Given the description of an element on the screen output the (x, y) to click on. 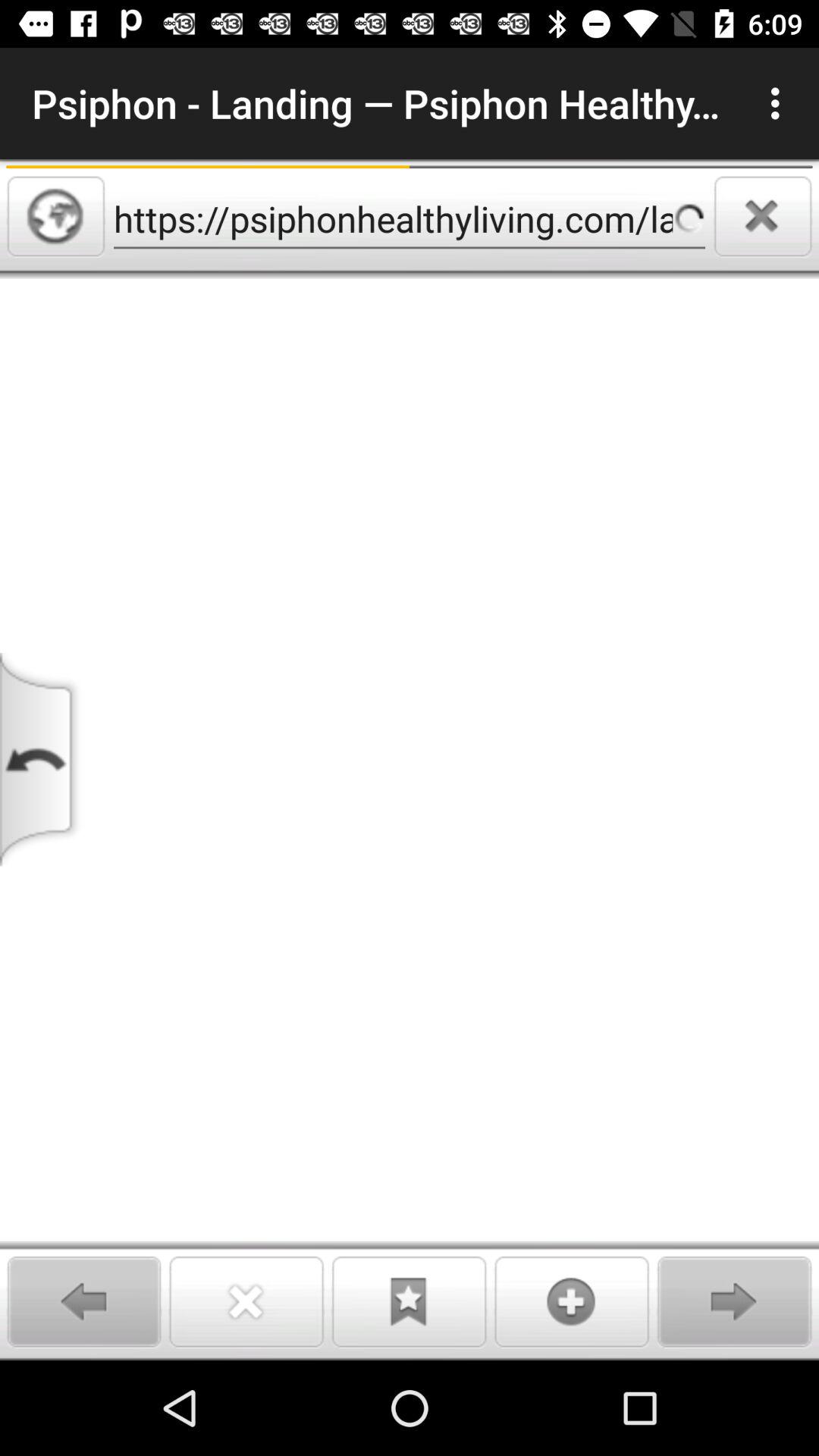
exit out of page (762, 216)
